Given the description of an element on the screen output the (x, y) to click on. 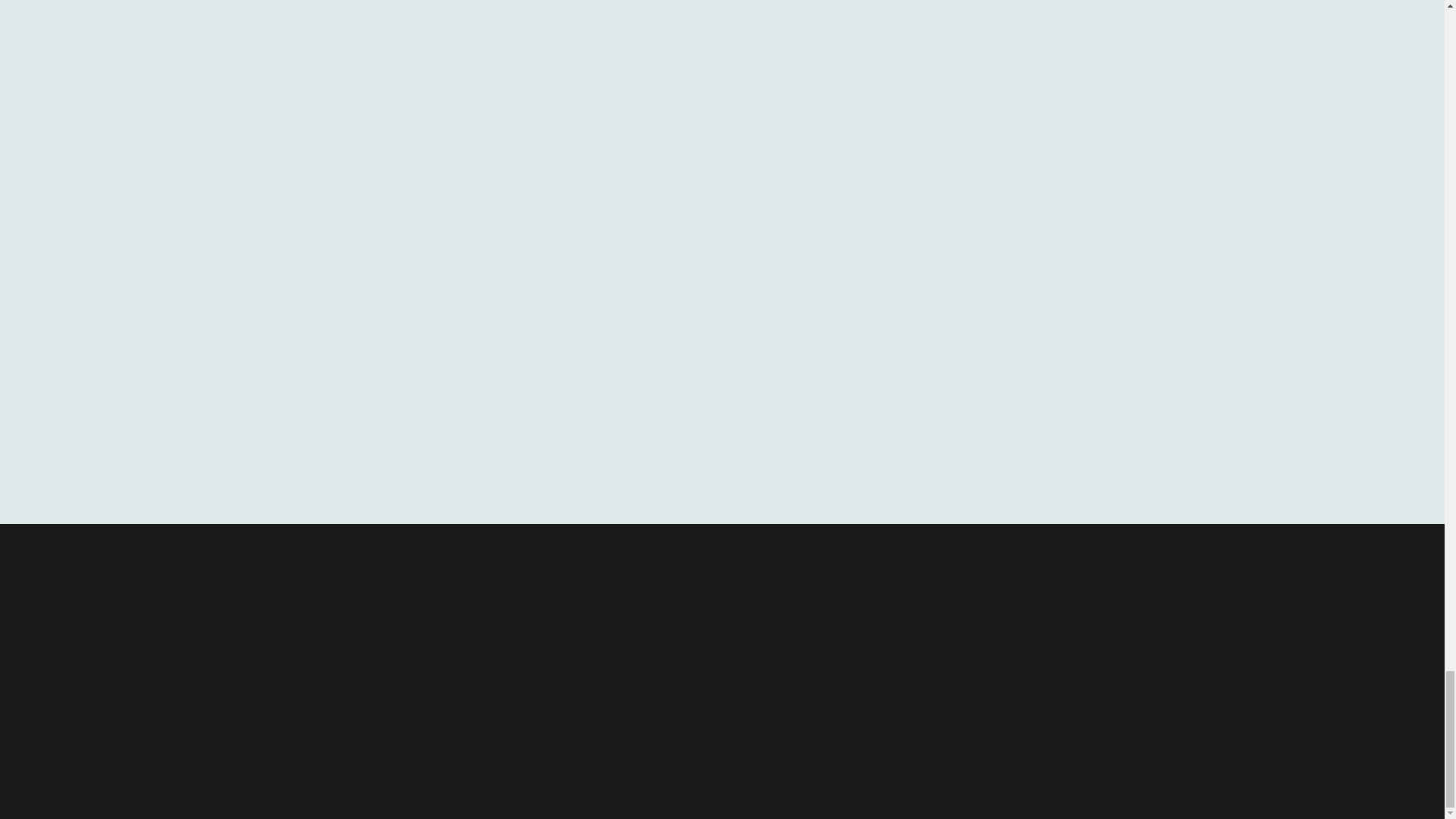
Submit Message (147, 410)
